Given the description of an element on the screen output the (x, y) to click on. 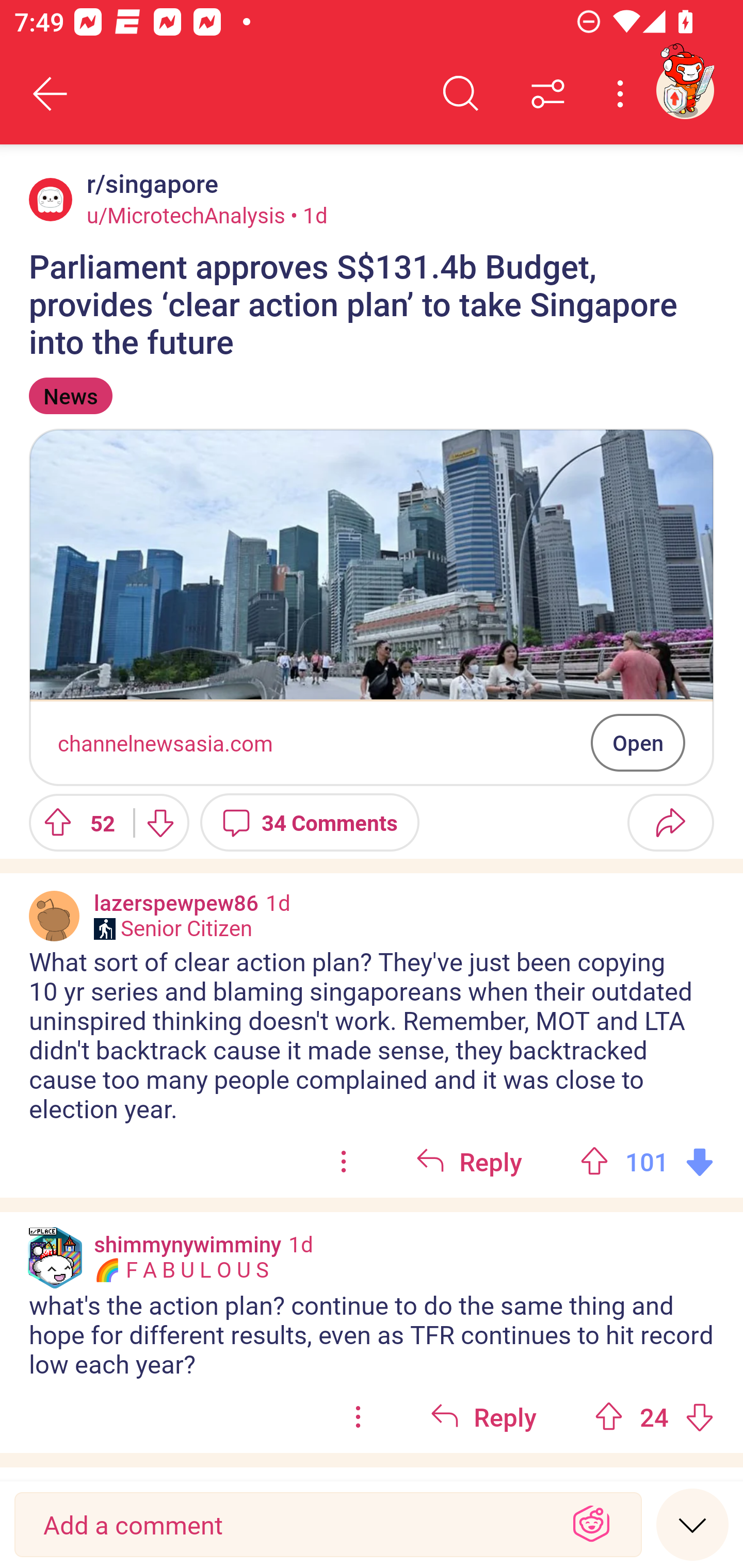
Back (50, 93)
TestAppium002 account (685, 90)
Search comments (460, 93)
Sort comments (547, 93)
More options (623, 93)
r/singapore (148, 183)
Avatar (50, 199)
News (70, 395)
Preview Image channelnewsasia.com Open (371, 606)
Open (637, 742)
Upvote 52 (73, 822)
Downvote (158, 822)
34 Comments (309, 822)
Share (670, 822)
Avatar (53, 915)
￼ Senior Citizen (172, 927)
options (343, 1161)
Reply (469, 1161)
Upvote 101 101 votes Downvote (647, 1161)
🌈 F A B U L O U S (180, 1269)
options (358, 1417)
Reply (483, 1417)
Upvote 24 24 votes Downvote (654, 1417)
Speed read (692, 1524)
Add a comment (291, 1524)
Show Expressions (590, 1524)
